Given the description of an element on the screen output the (x, y) to click on. 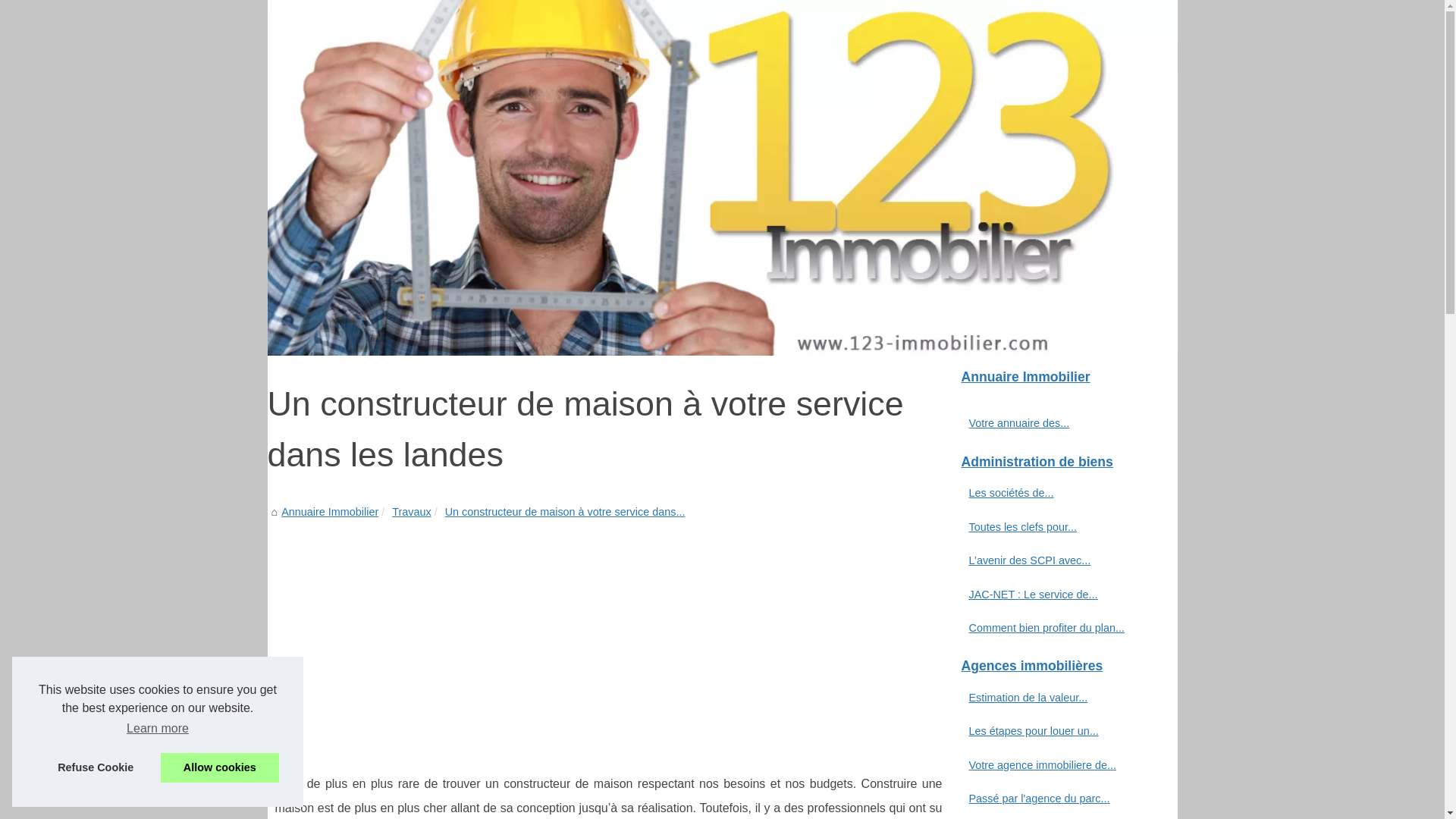
Comment bien profiter du plan... Element type: text (1055, 627)
Travaux Element type: text (411, 511)
Allow cookies Element type: text (219, 767)
Refuse Cookie Element type: text (95, 767)
Administration de biens Element type: text (1063, 462)
Toutes les clefs pour... Element type: text (1055, 526)
Votre agence immobiliere de... Element type: text (1055, 765)
Learn more Element type: text (157, 728)
Votre annuaire des... Element type: text (1055, 423)
Annuaire Immobilier Element type: hover (721, 177)
Advertisement Element type: hover (607, 635)
JAC-NET : Le service de... Element type: text (1055, 594)
Annuaire Immobilier Element type: text (1063, 377)
Estimation de la valeur... Element type: text (1055, 697)
Annuaire Immobilier Element type: text (329, 511)
